Given the description of an element on the screen output the (x, y) to click on. 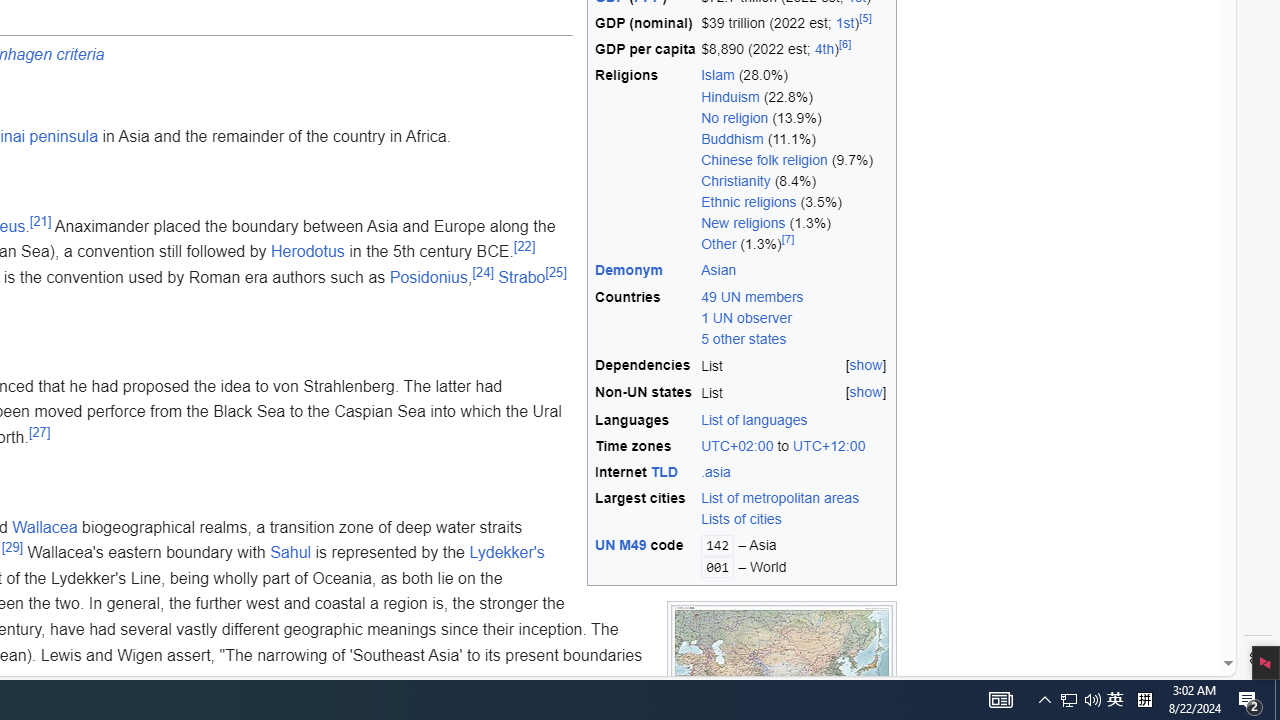
4th (824, 49)
Chinese folk religion (764, 159)
No religion (13.9%) (795, 117)
Religions (645, 160)
Largest cities (645, 509)
New religions (1.3%) (795, 223)
[6] (845, 44)
Other (1.3%)[7] (795, 245)
Demonym (629, 270)
[22] (524, 246)
Sahul (291, 553)
List of languages (795, 420)
[25] (556, 272)
Asian (719, 270)
